Given the description of an element on the screen output the (x, y) to click on. 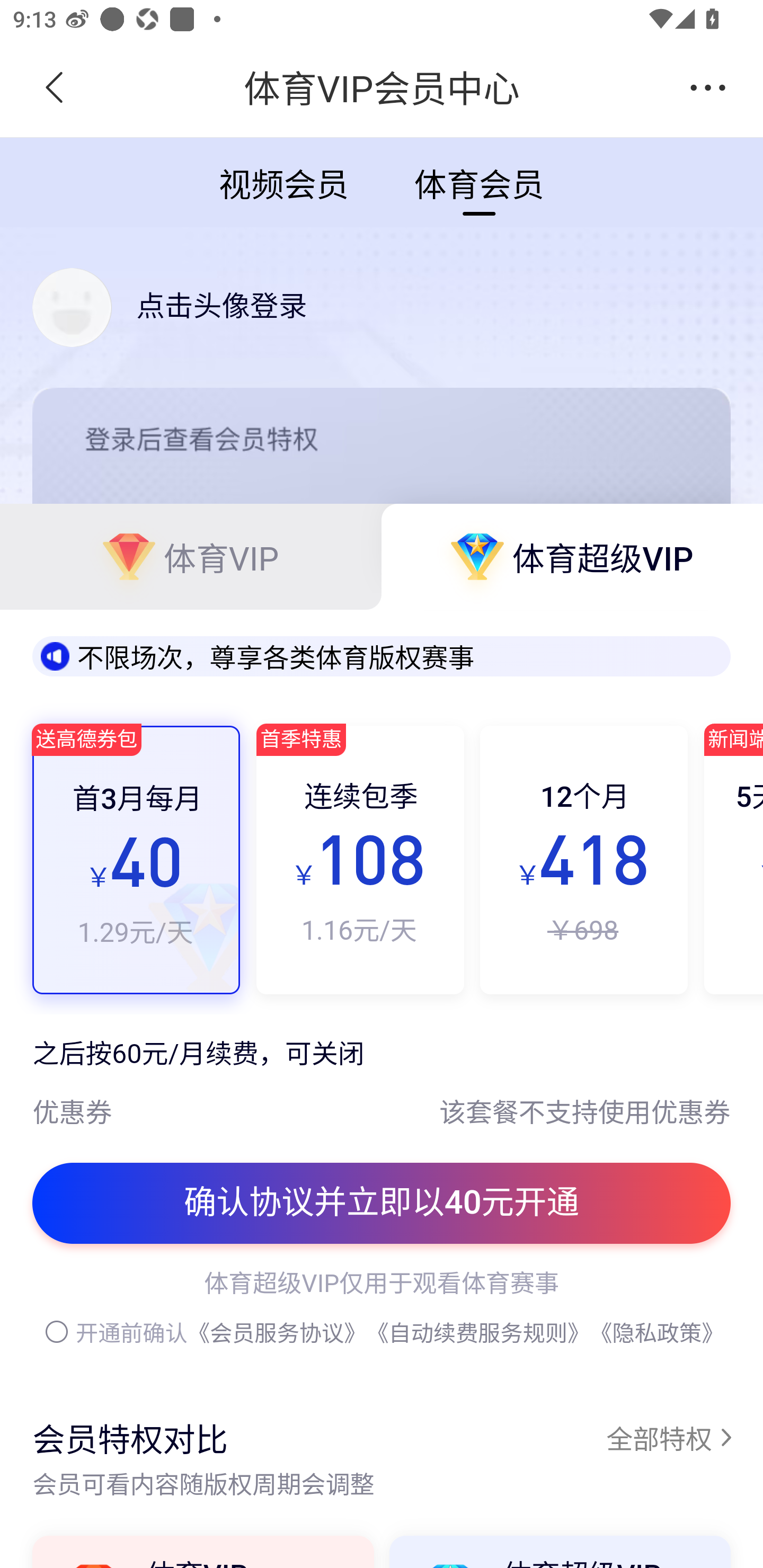
 返回 (54, 87)
 更多 (707, 87)
体育VIP会员中心 (381, 88)
视频会员 (283, 181)
vip_sport_vip 体育VIP (190, 556)
vip_sport_svip 体育超级VIP (572, 556)
首3月每月 ￥40 1.29元/天 送高德券包 (136, 859)
连续包季 ￥108 1.16元/天 首季特惠 (359, 859)
12个月 ￥418 ￥698 (583, 859)
优惠券 该套餐不支持使用优惠券 (381, 1099)
确认协议并立即以40元开通 (381, 1202)
《会员服务协议》 (276, 1333)
《自动续费服务规则》 (478, 1333)
《隐私政策》 (656, 1333)
会员特权对比 全部特权 会员可看内容随版权周期会调整 体育VIP 体育超级VIP (381, 1457)
全部特权 (667, 1436)
